Given the description of an element on the screen output the (x, y) to click on. 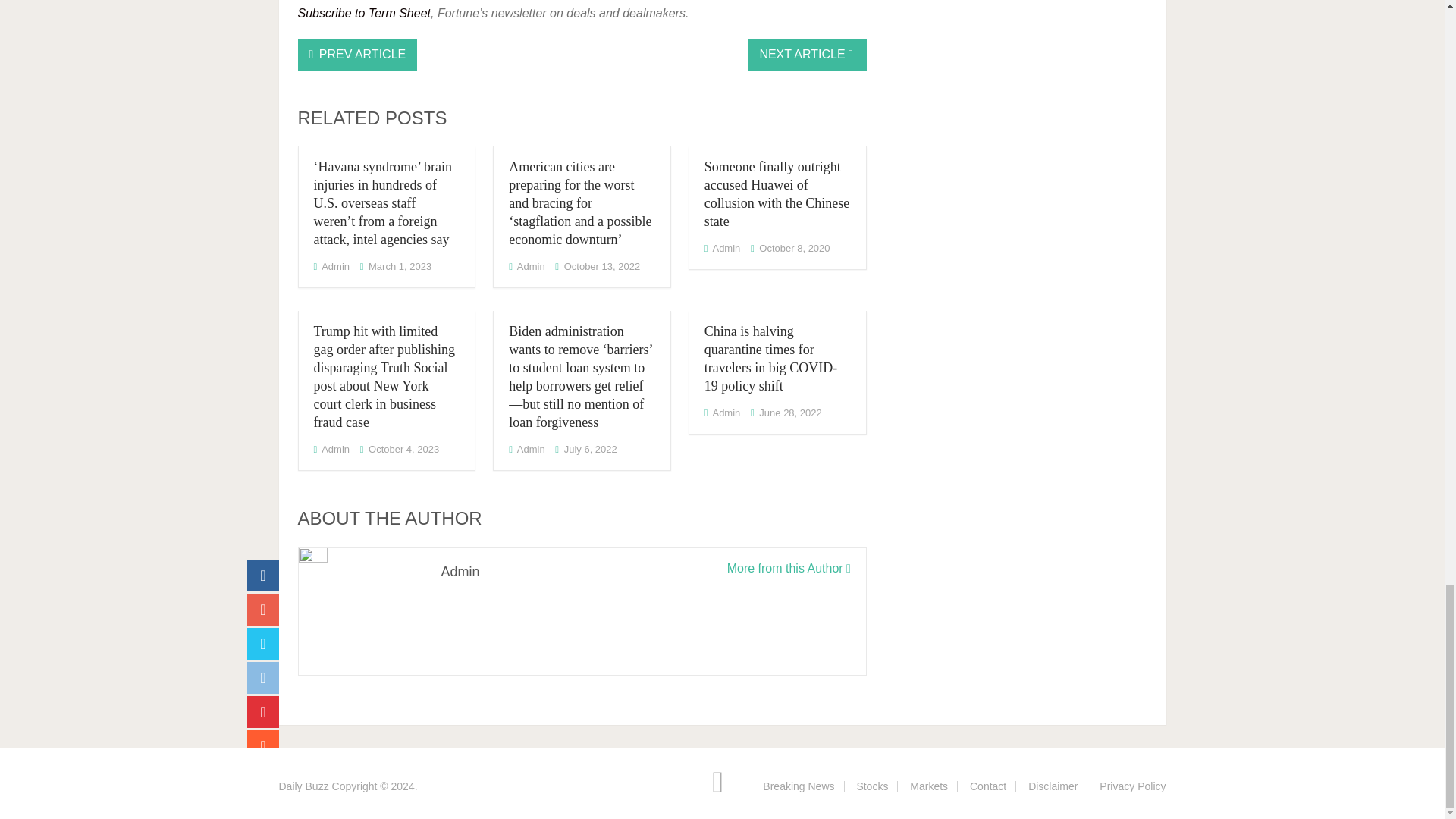
Posts by admin (530, 449)
Posts by admin (335, 449)
Posts by admin (335, 266)
Posts by admin (725, 247)
PREV ARTICLE (356, 54)
Posts by admin (530, 266)
Subscribe to Term Sheet (363, 12)
